Given the description of an element on the screen output the (x, y) to click on. 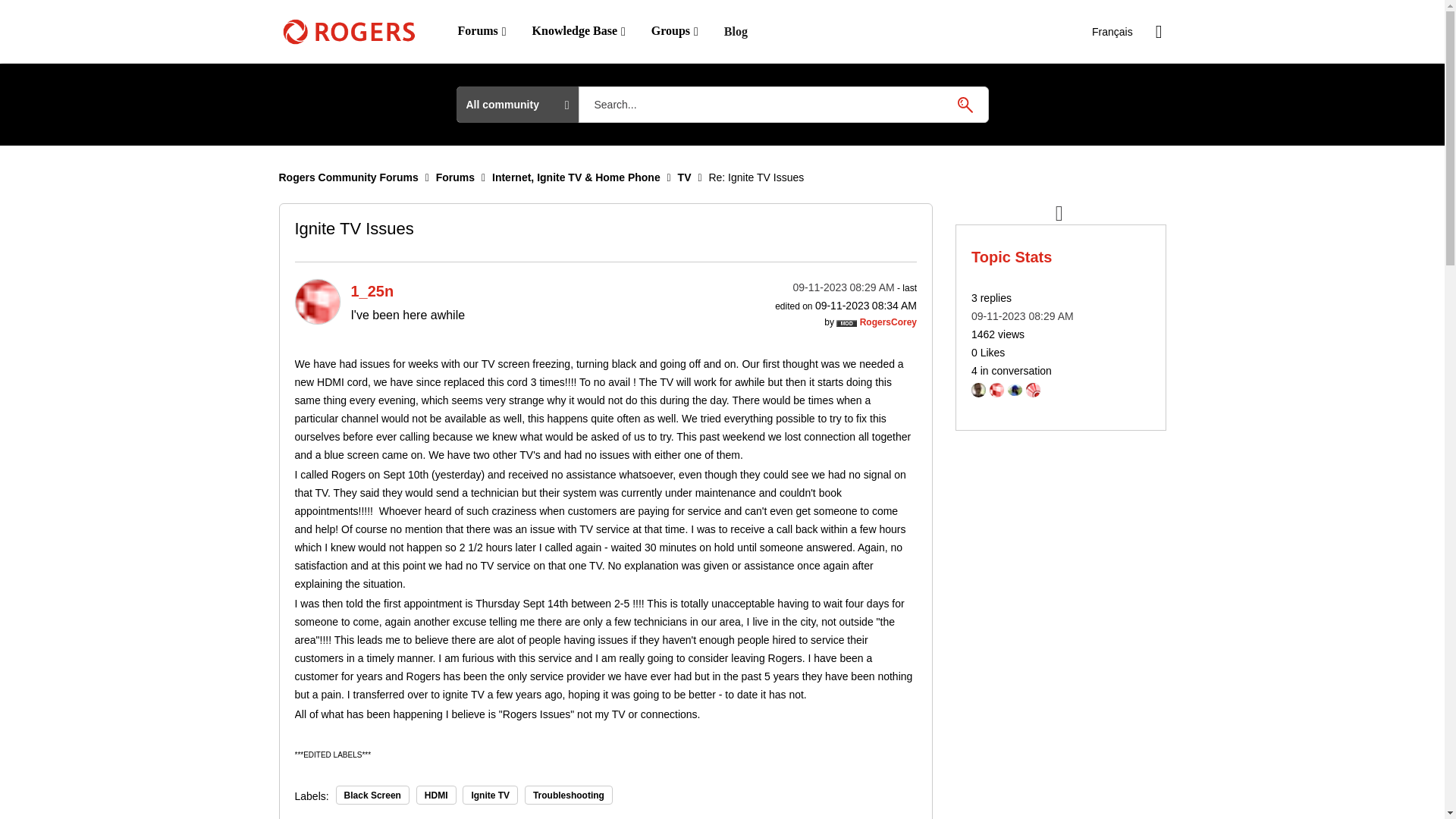
Moderator (846, 323)
Search Granularity (517, 104)
Forums (480, 31)
Rogers Community (348, 31)
Blog (735, 31)
Rogers Community Forums (349, 177)
Search (964, 104)
TV (684, 177)
Knowledge Base (579, 31)
Search (964, 104)
Search (783, 104)
Search (964, 104)
Groups (675, 31)
Forums (454, 177)
